Given the description of an element on the screen output the (x, y) to click on. 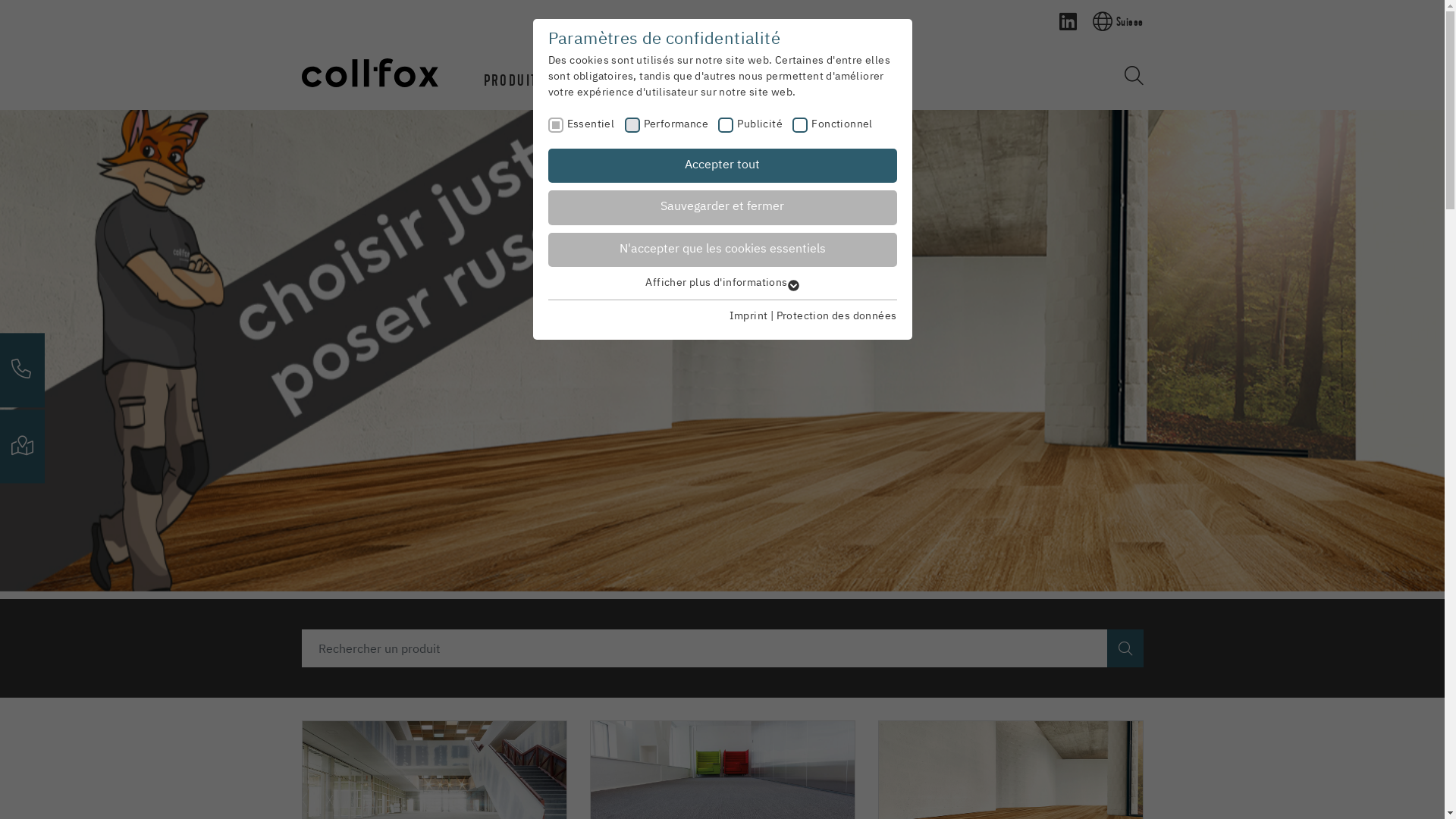
SERVICE Element type: text (601, 80)
LinkedIn Element type: hover (1067, 21)
Imprint Element type: text (748, 315)
Suisse Element type: text (1112, 21)
Accepter tout Element type: text (721, 165)
Afficher plus d'informations Element type: text (721, 282)
Sauvegarder et fermer Element type: text (721, 207)
PRODUITS Element type: text (513, 80)
N'accepter que les cookies essentiels Element type: text (721, 249)
TECHNIQUE Element type: text (692, 80)
